Given the description of an element on the screen output the (x, y) to click on. 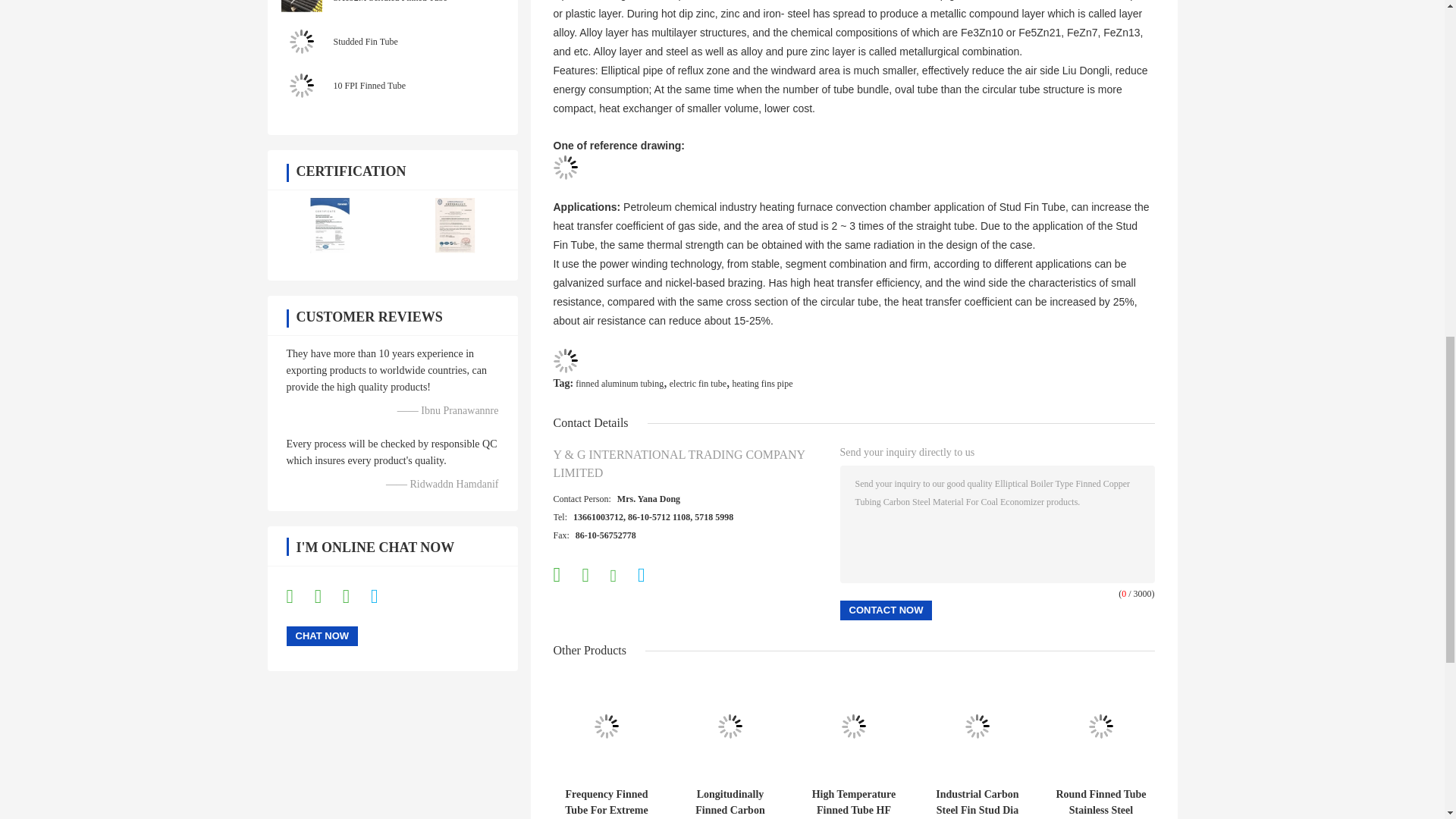
Contact Now (886, 609)
Chat Now (322, 636)
